Given the description of an element on the screen output the (x, y) to click on. 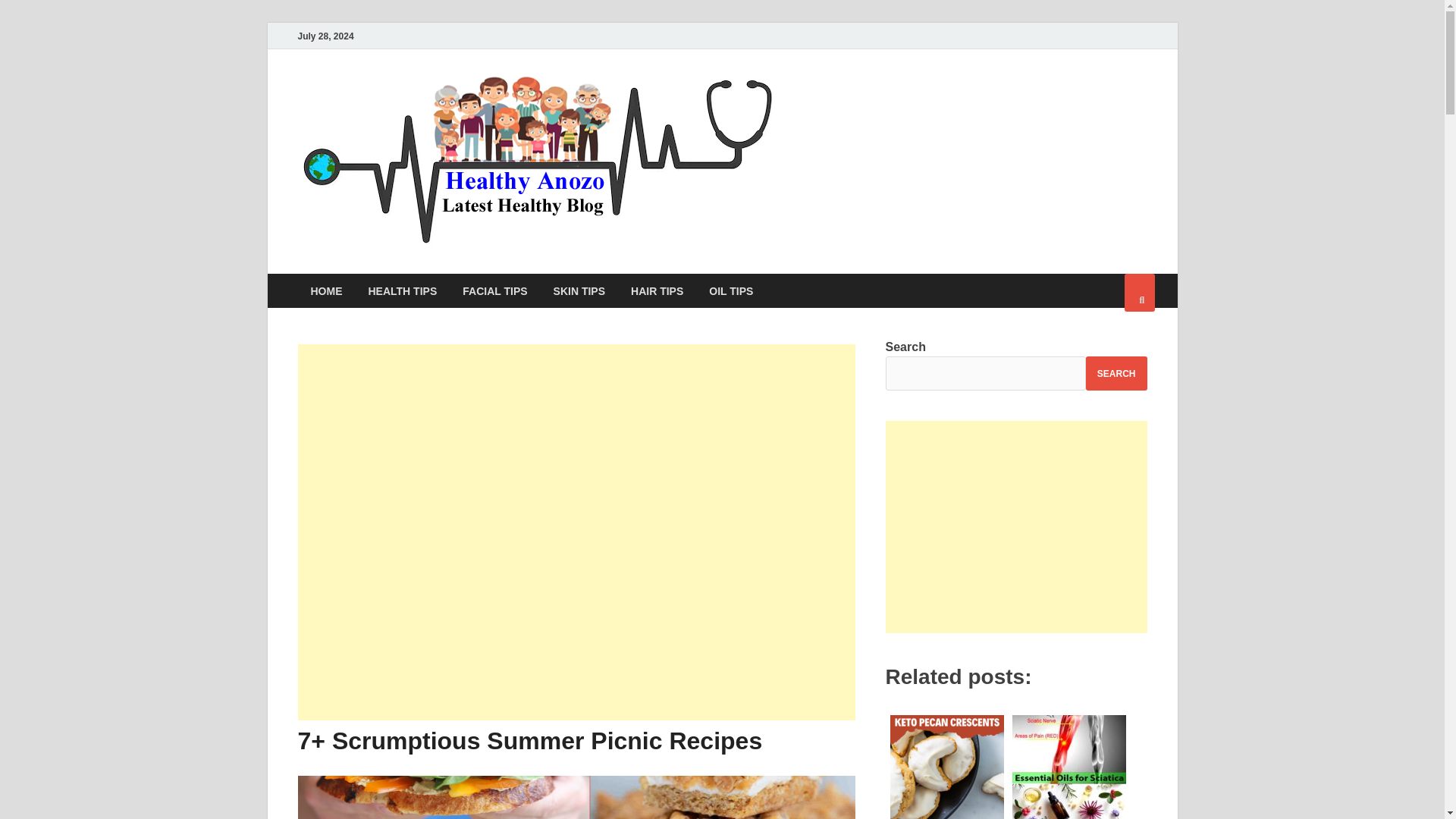
OIL TIPS (730, 290)
FACIAL TIPS (494, 290)
HOME (326, 290)
HEALTH TIPS (402, 290)
HAIR TIPS (656, 290)
Healthy Anozo (881, 100)
SKIN TIPS (578, 290)
